Given the description of an element on the screen output the (x, y) to click on. 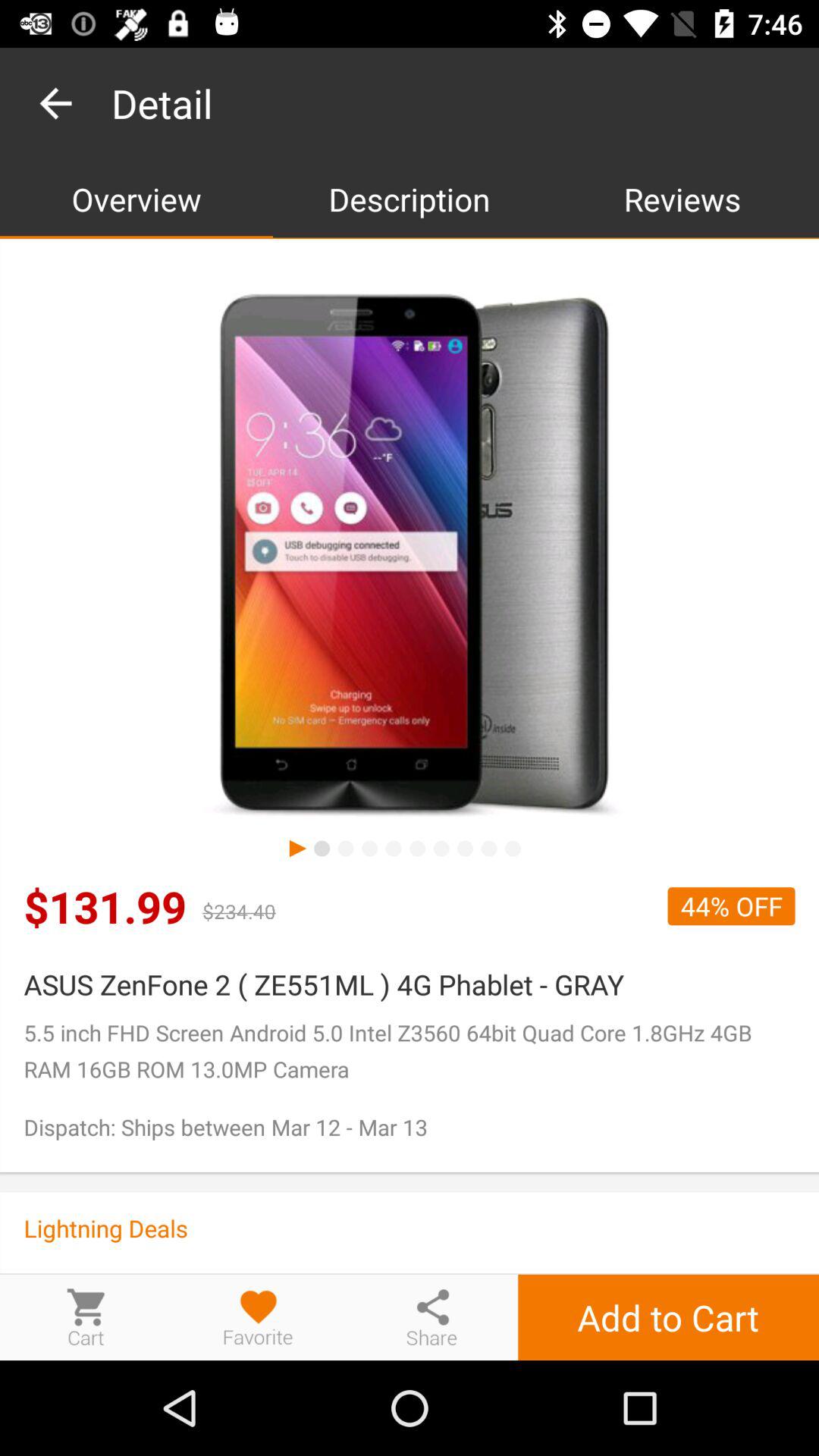
flip until $131.99 icon (104, 906)
